Given the description of an element on the screen output the (x, y) to click on. 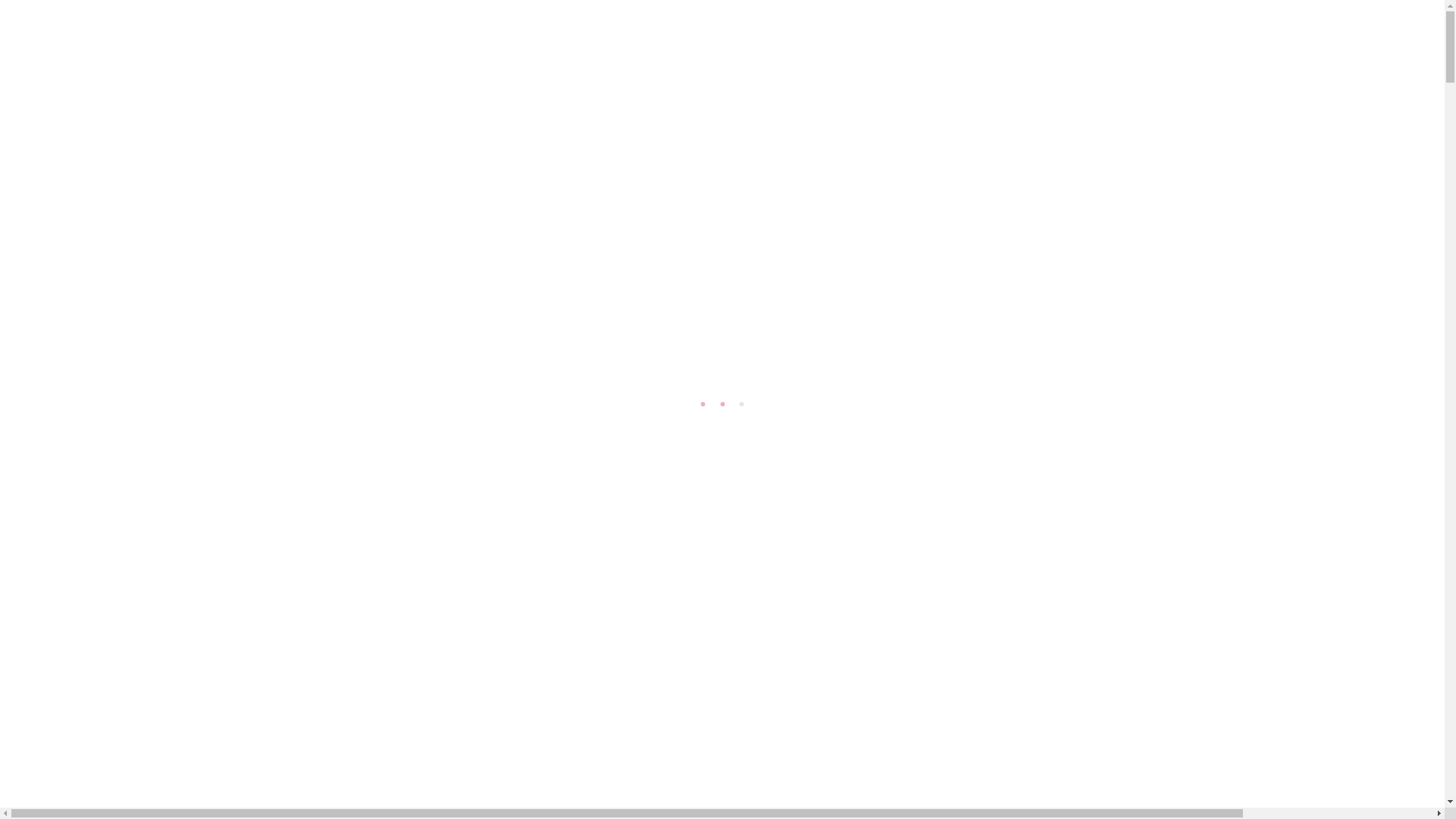
Odjel za klavir Element type: text (156, 189)
Vanjski suradnici Element type: text (122, 105)
Nastavno osoblje Element type: text (124, 91)
Baletna predstava (koncert) Element type: text (127, 309)
Deutsch Element type: hover (93, 402)
Video galerija Element type: text (112, 288)
English Element type: hover (57, 402)
Odjel za harmoniku Element type: text (174, 175)
Odjel za teorijske glazbene predmete Element type: text (175, 225)
Priznanja i nagrade Element type: text (129, 273)
Kalendar rada Element type: text (113, 259)
Hrvatski Element type: hover (39, 402)
Kontakt Element type: text (54, 386)
Brotnjo Element type: text (22, 7)
Odjel za gitaru Element type: text (158, 146)
Obavijesti Element type: text (60, 343)
Djelatnici Element type: text (101, 76)
